Given the description of an element on the screen output the (x, y) to click on. 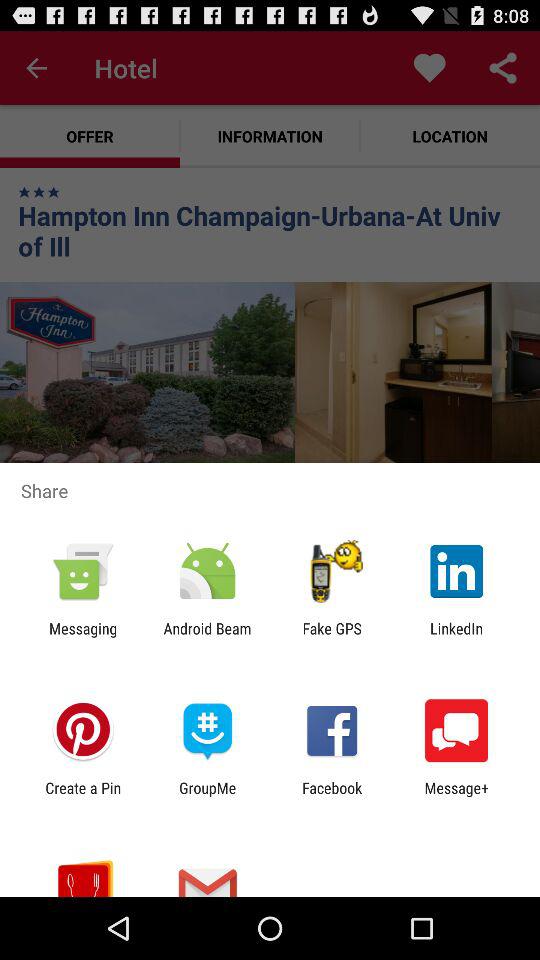
turn on the app to the right of the messaging app (207, 637)
